Given the description of an element on the screen output the (x, y) to click on. 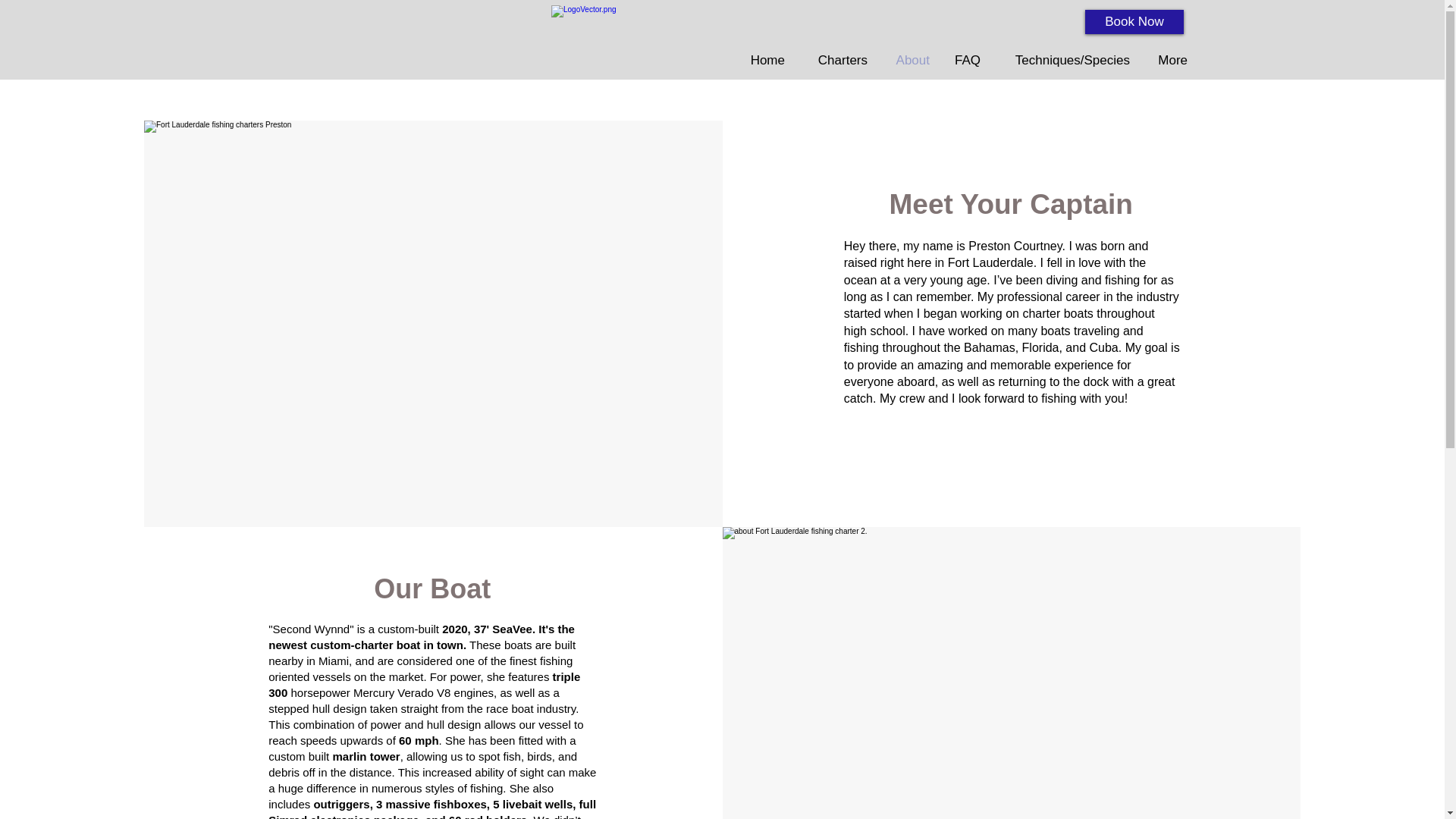
Charters (837, 60)
FAQ (965, 60)
About (909, 60)
Book Now (1133, 21)
Home (765, 60)
